Given the description of an element on the screen output the (x, y) to click on. 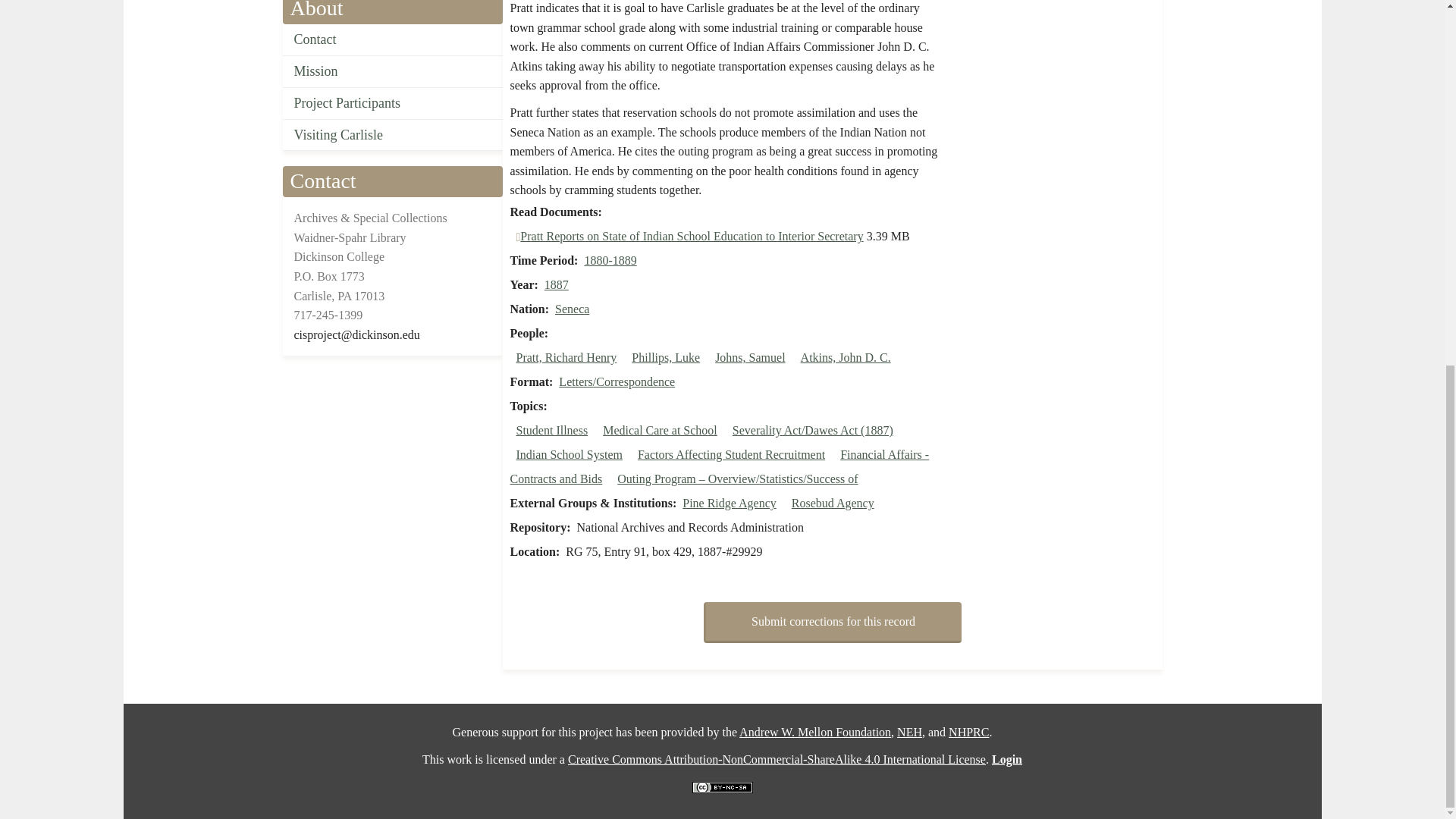
Indian School System (568, 454)
Rosebud Agency (833, 502)
Project Participants (392, 103)
Pine Ridge Agency (729, 502)
Medical Care at School (659, 430)
Phillips, Luke (665, 357)
Mission (392, 71)
Contact (392, 40)
Go to the Creative Commons site for more information (776, 758)
Factors Affecting Student Recruitment (731, 454)
